Given the description of an element on the screen output the (x, y) to click on. 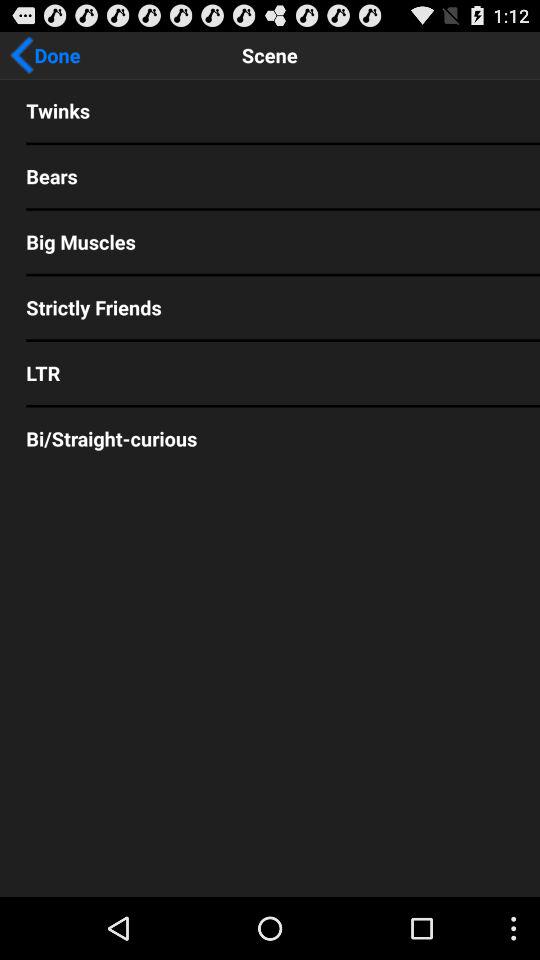
click the icon next to scene icon (45, 55)
